Given the description of an element on the screen output the (x, y) to click on. 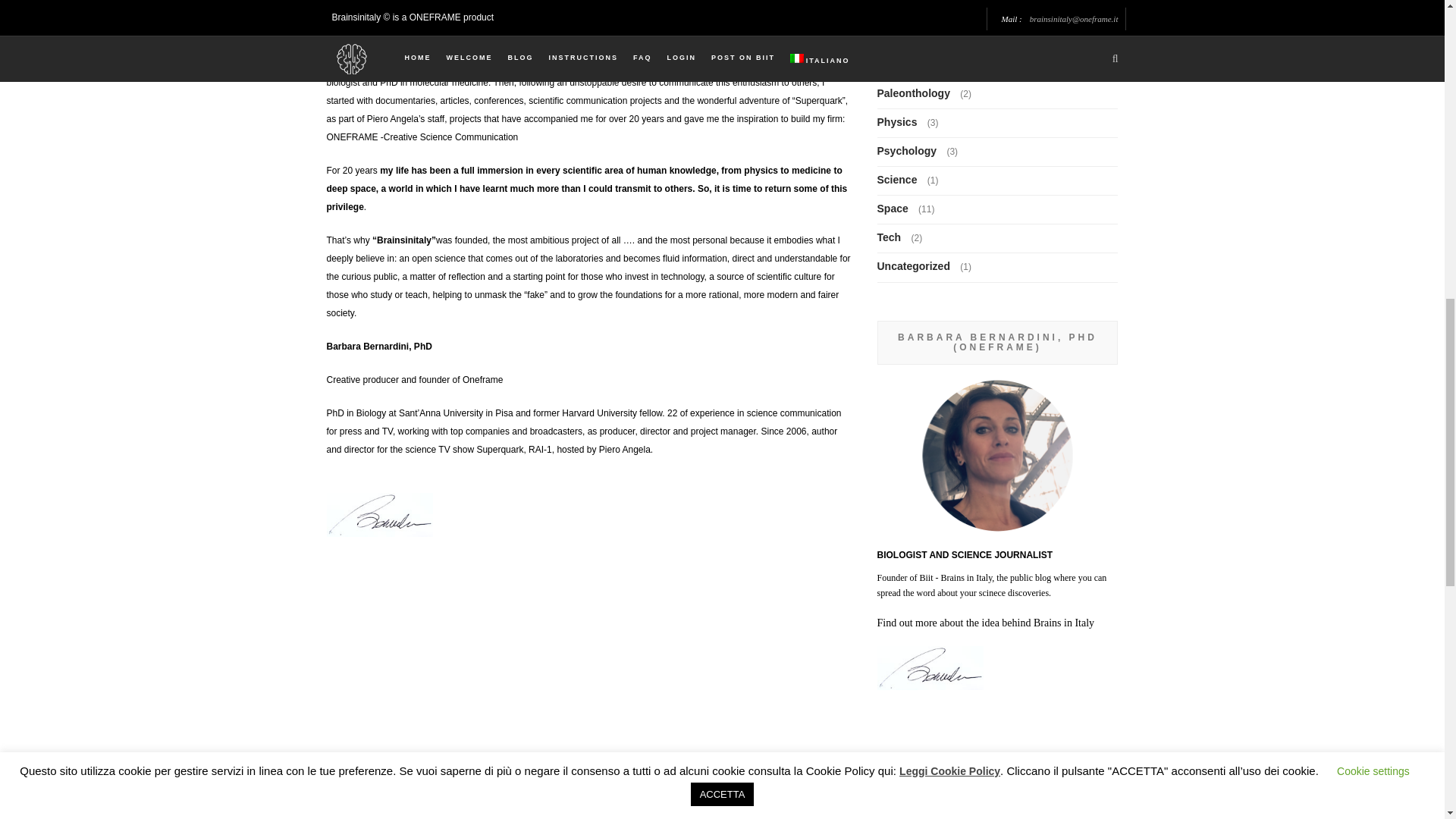
Environment (912, 6)
